Given the description of an element on the screen output the (x, y) to click on. 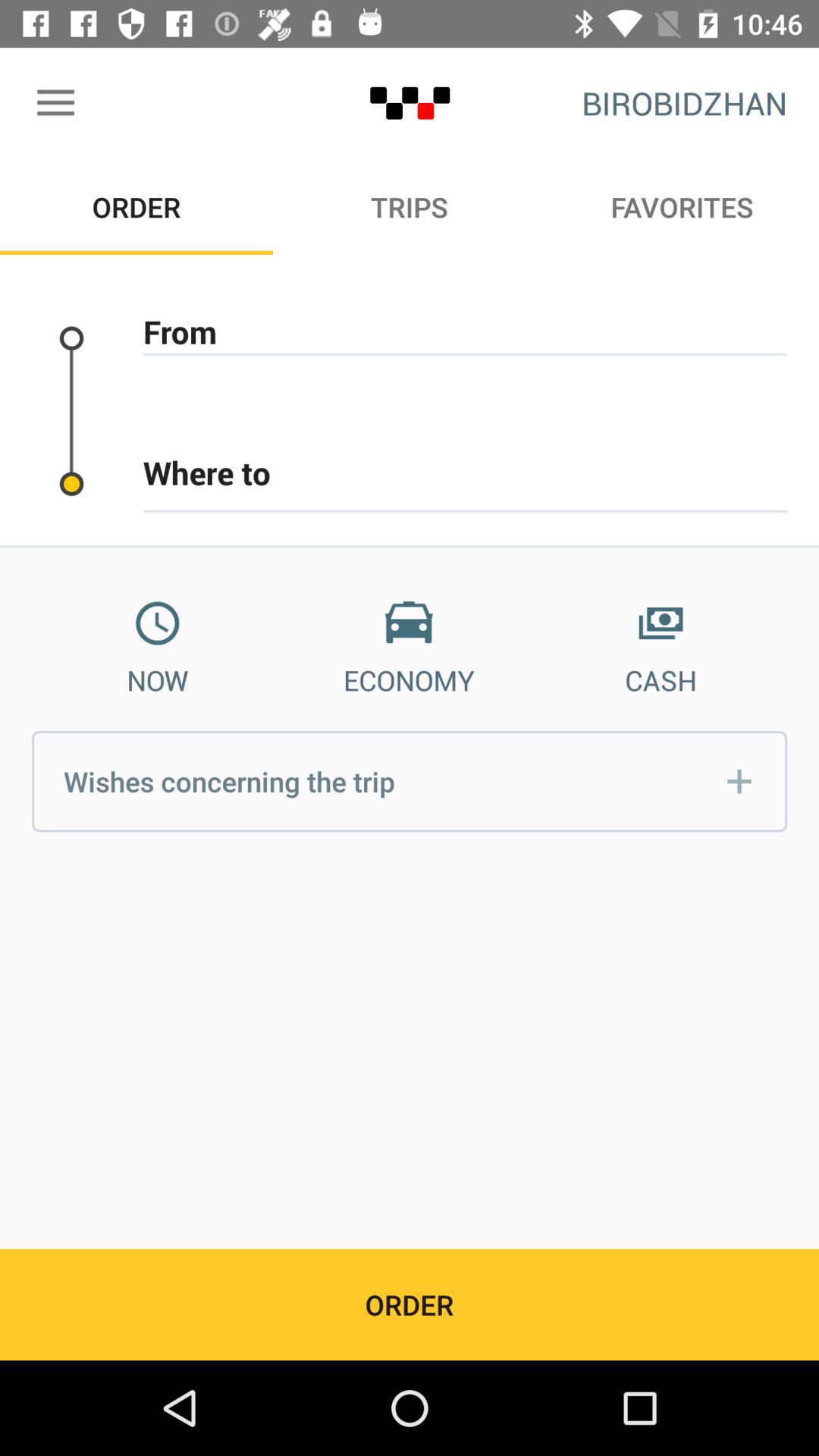
click the icon above now (156, 623)
select the symbol which is beside from (71, 337)
select the icon above the text economy (408, 623)
select the image beside the menu (409, 103)
